Given the description of an element on the screen output the (x, y) to click on. 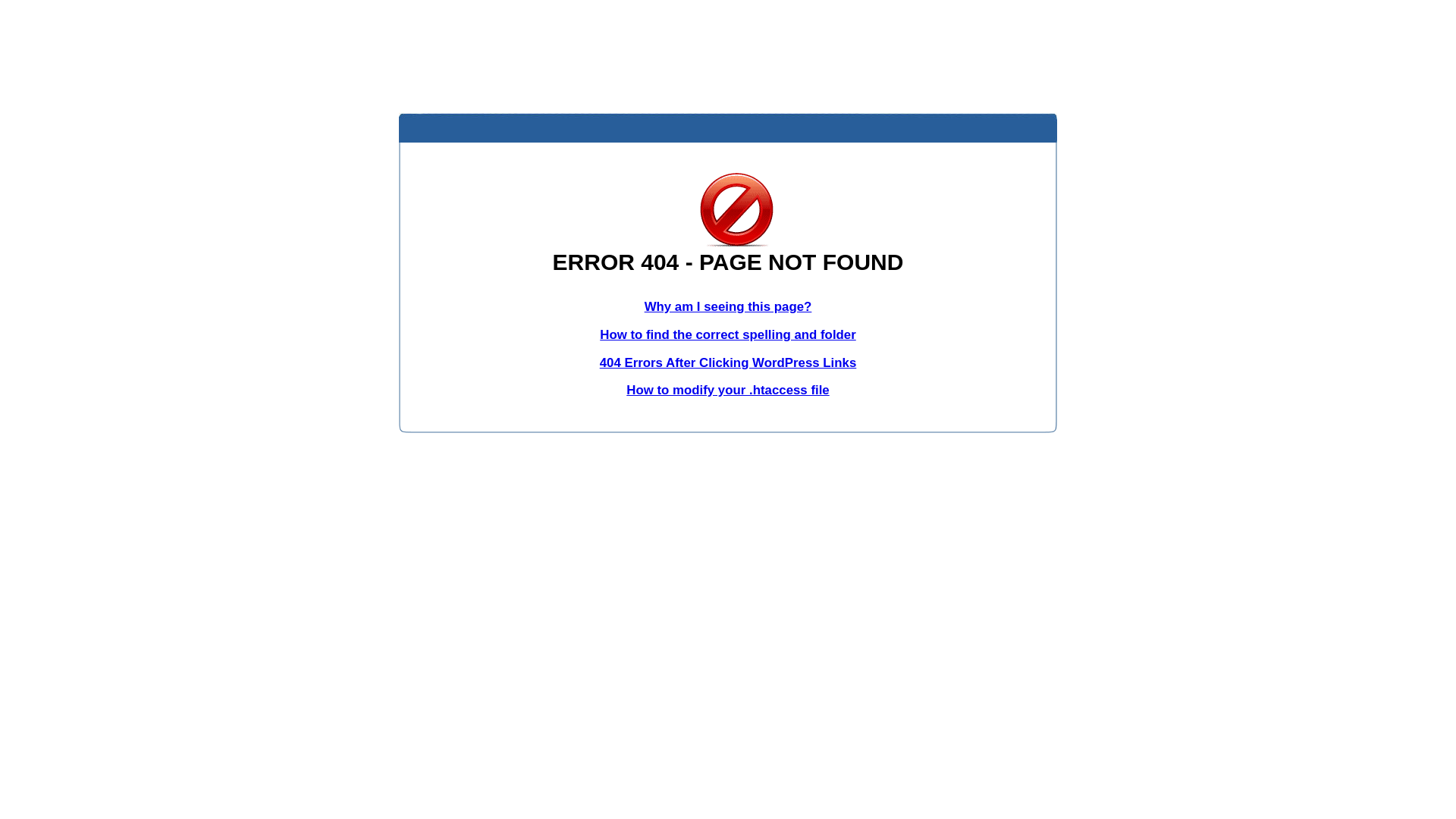
How to modify your .htaccess file Element type: text (727, 389)
How to find the correct spelling and folder Element type: text (727, 334)
404 Errors After Clicking WordPress Links Element type: text (727, 362)
Why am I seeing this page? Element type: text (728, 306)
